Given the description of an element on the screen output the (x, y) to click on. 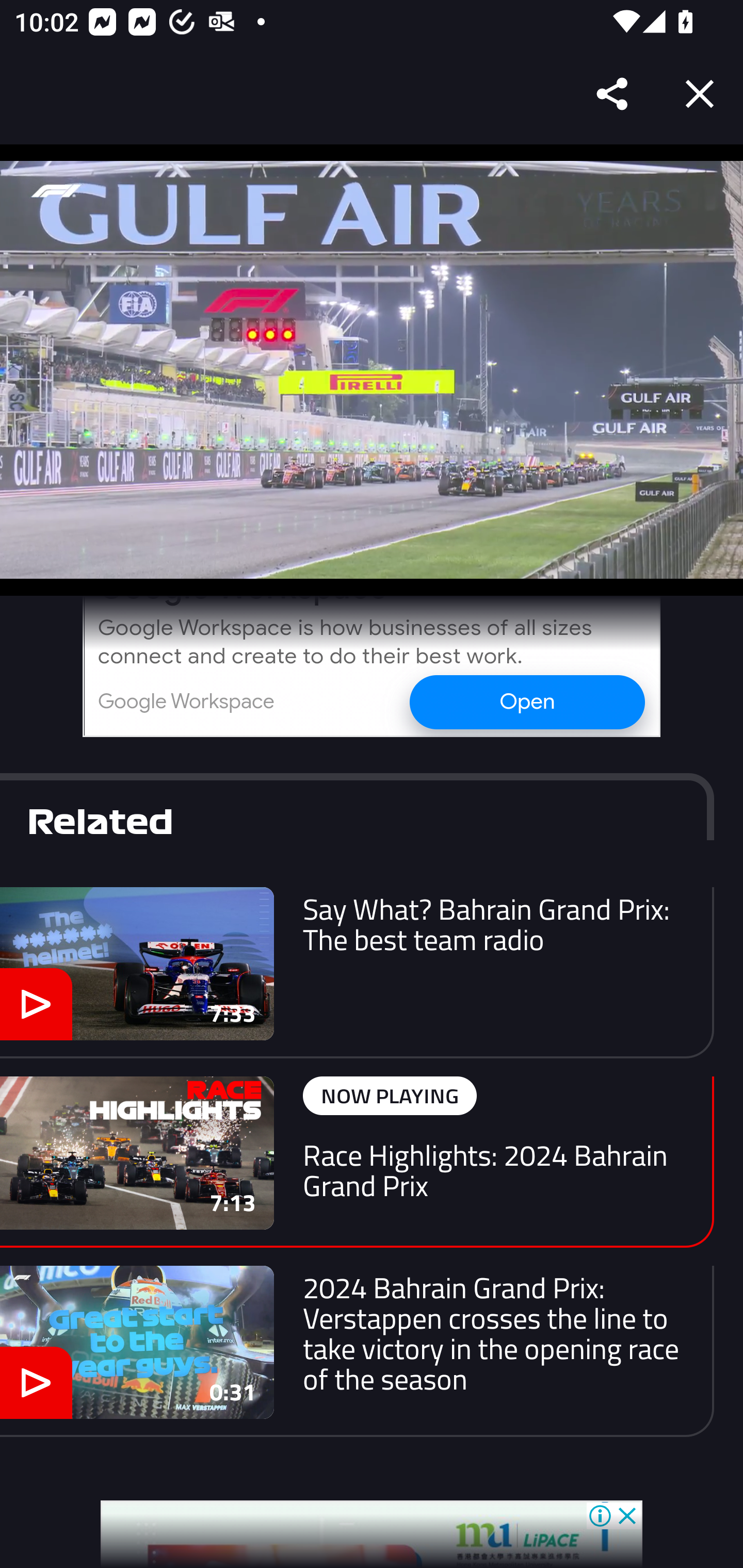
Share (612, 93)
Close (699, 93)
Video Player (371, 369)
Open (526, 701)
Google Workspace (186, 701)
